Given the description of an element on the screen output the (x, y) to click on. 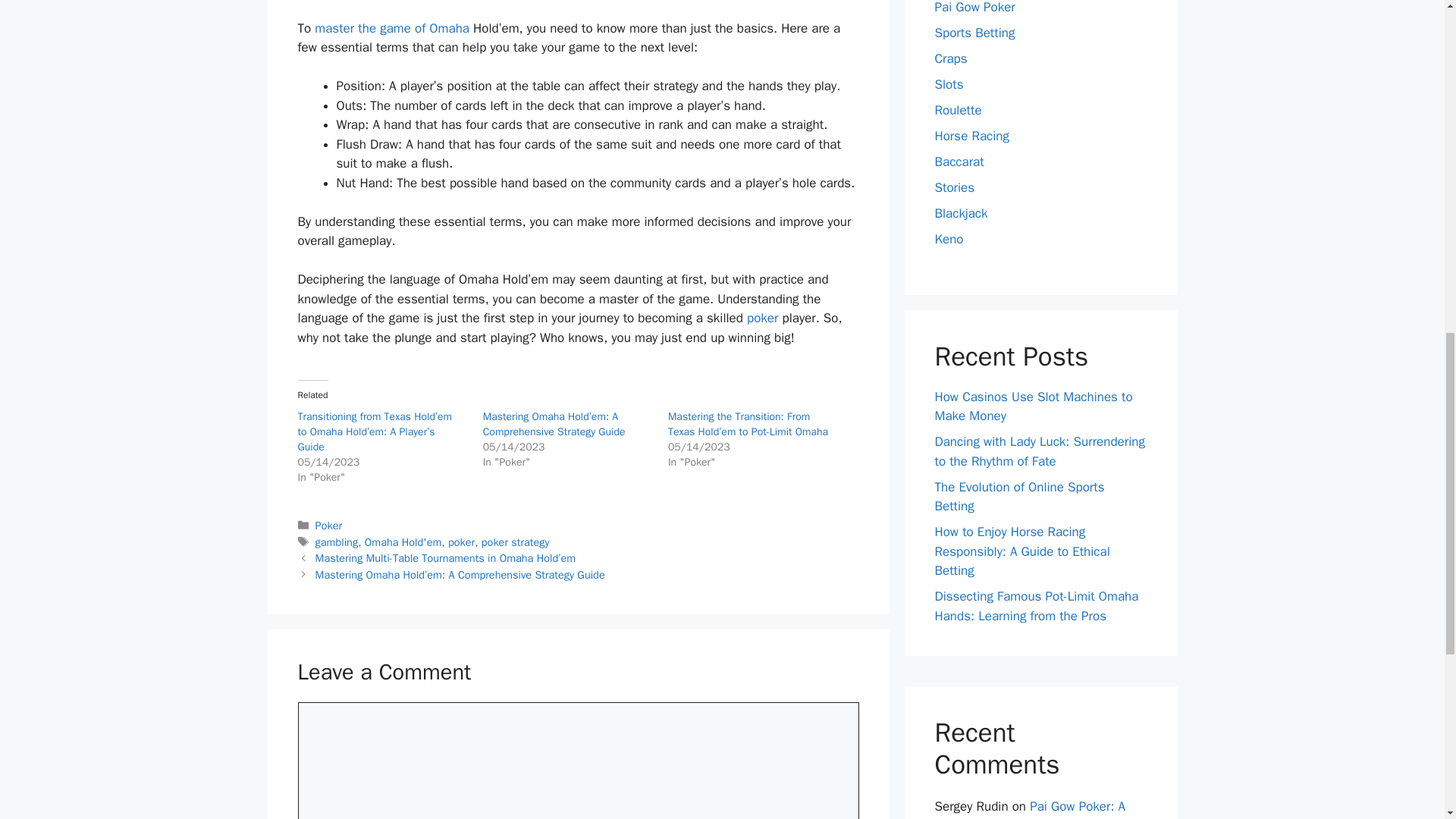
Roulette (957, 109)
Omaha Hold'em (403, 541)
Poker (328, 525)
Slots (948, 84)
Craps (950, 58)
gambling (336, 541)
Scroll back to top (1406, 720)
Pai Gow Poker (974, 7)
master the game of Omaha (391, 28)
Sports Betting (974, 32)
poker (461, 541)
poker (761, 317)
poker (761, 317)
poker strategy (515, 541)
